Given the description of an element on the screen output the (x, y) to click on. 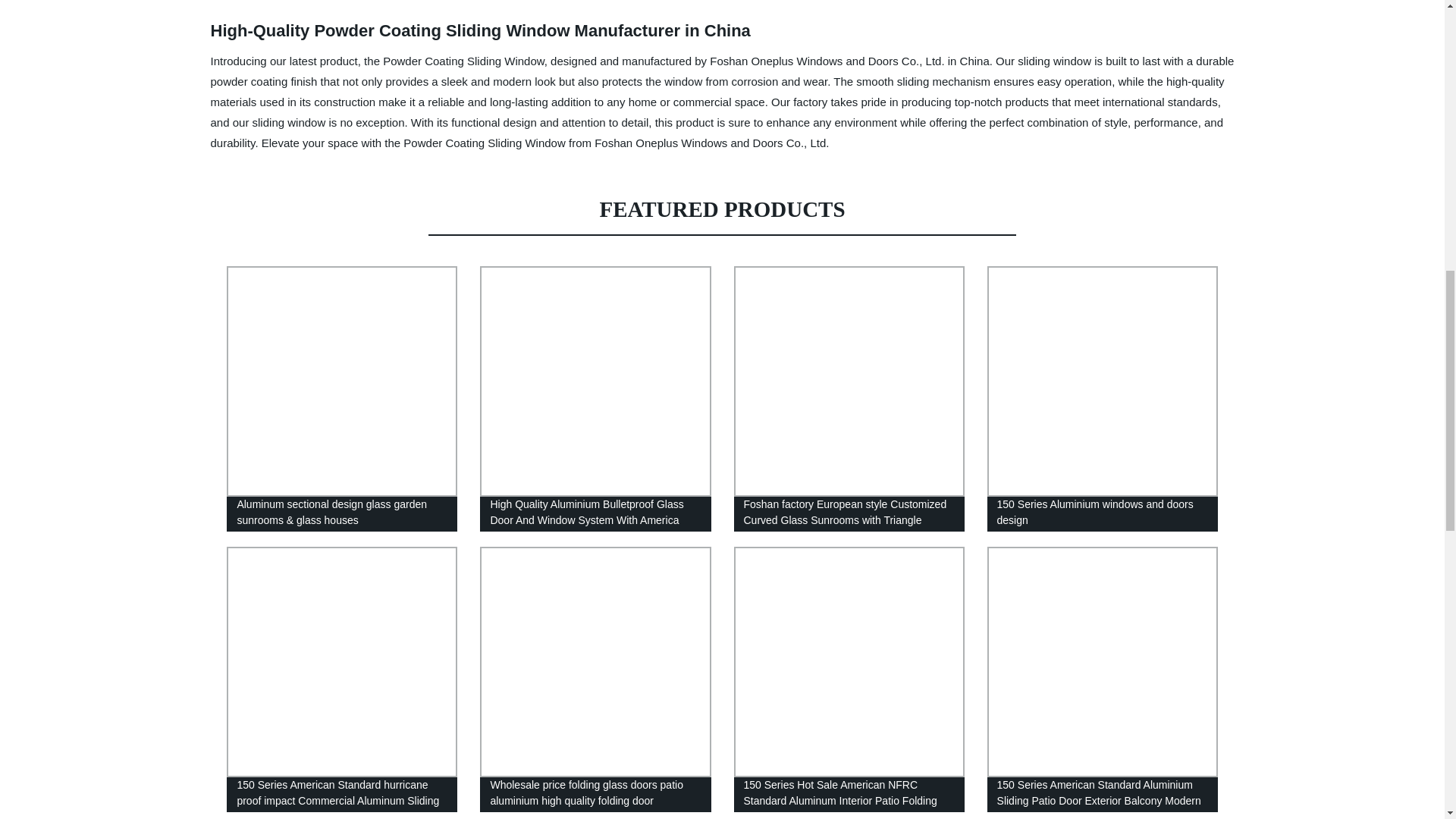
150 Series Aluminium windows and doors design (1101, 398)
